Given the description of an element on the screen output the (x, y) to click on. 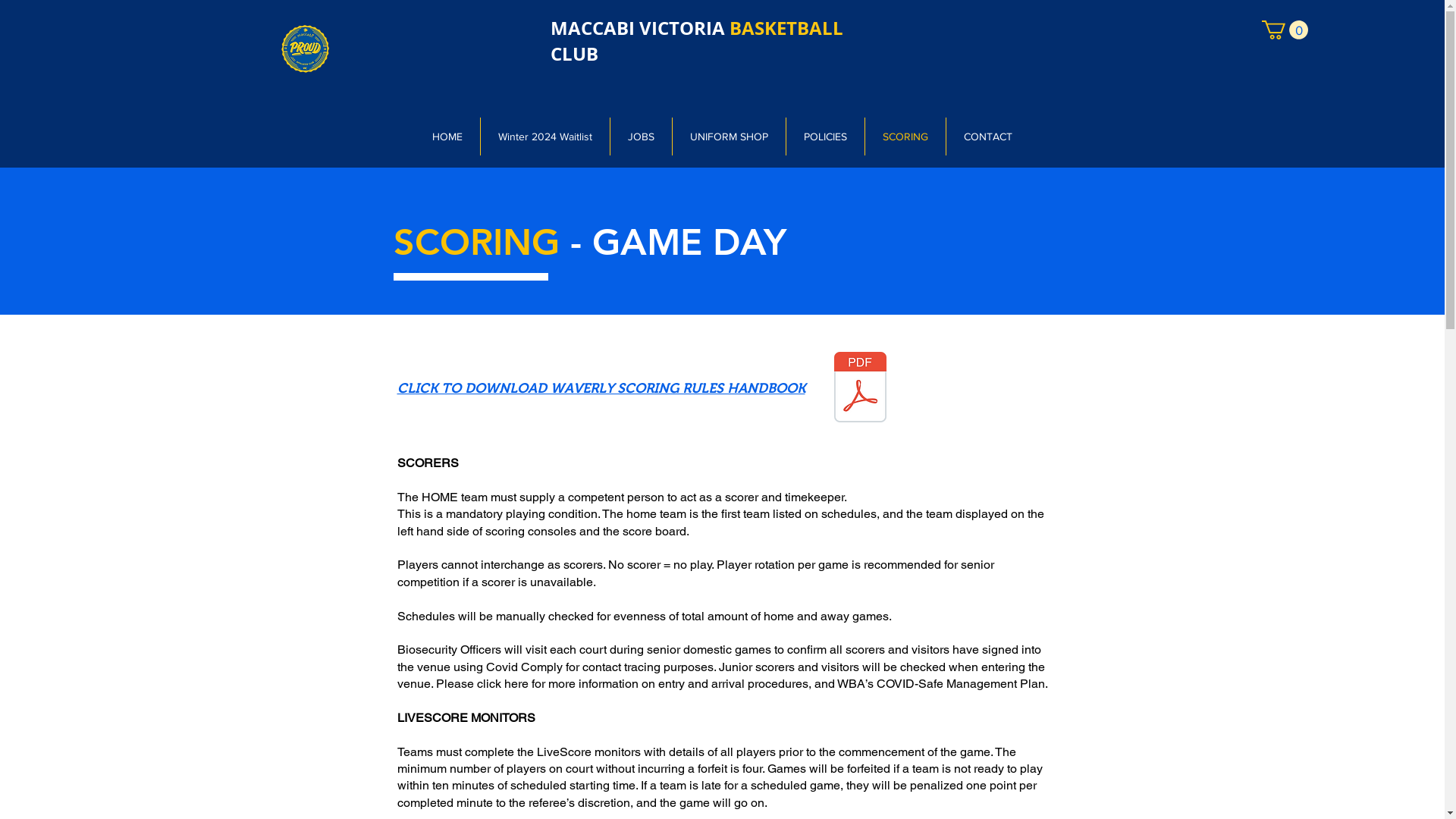
UNIFORM SHOP Element type: text (727, 136)
NEW Scoring Rule - Waverley.pdf Element type: hover (859, 388)
0 Element type: text (1284, 29)
HOME Element type: text (446, 136)
CONTACT Element type: text (987, 136)
SCORING Element type: text (904, 136)
Winter 2024 Waitlist Element type: text (544, 136)
CLICK TO DOWNLOAD WAVERLY SCORING RULES HANDBOOK Element type: text (601, 387)
